Given the description of an element on the screen output the (x, y) to click on. 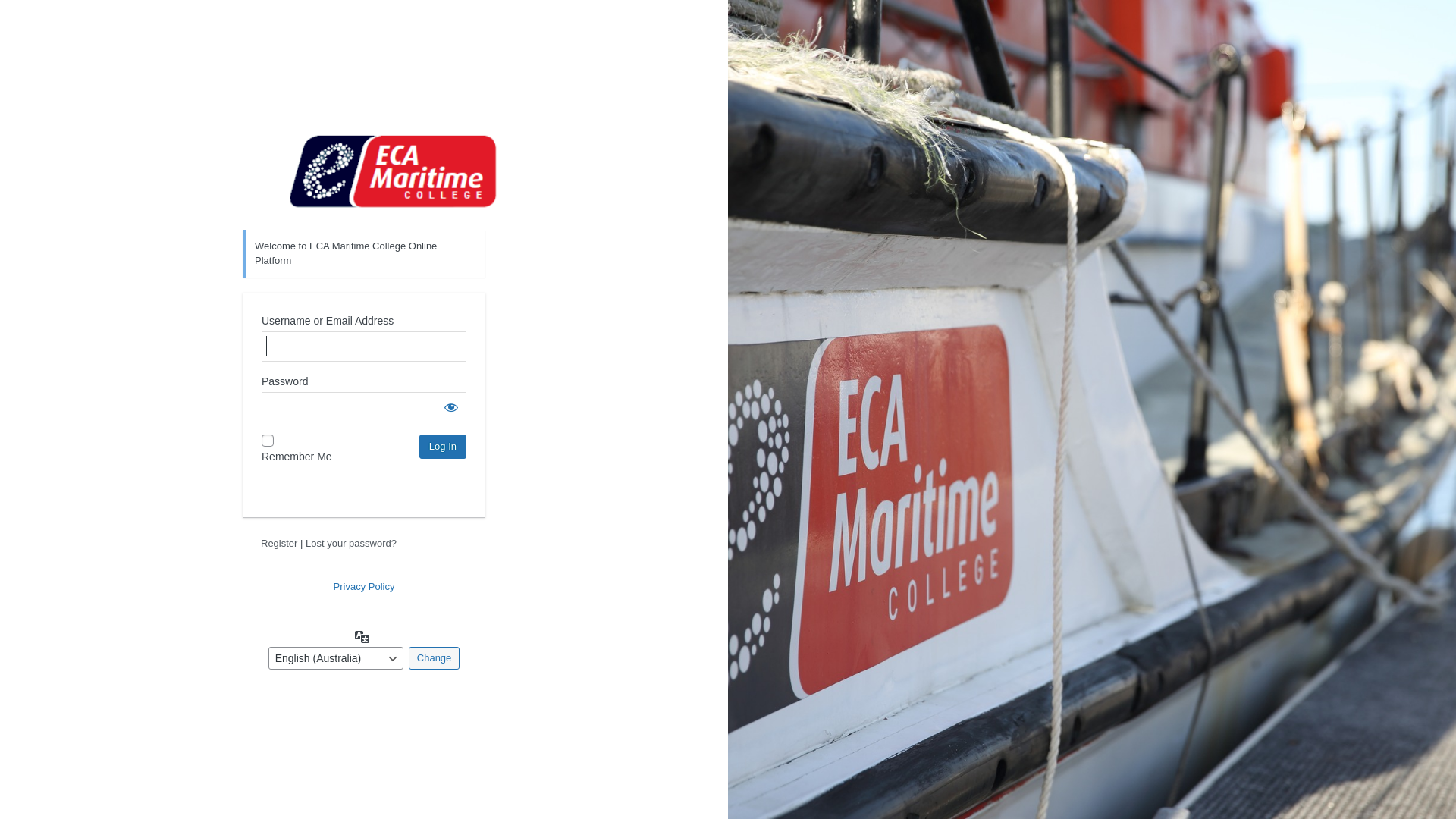
ECA Maritime College Element type: text (394, 170)
Privacy Policy Element type: text (364, 586)
Log In Element type: text (442, 446)
Lost your password? Element type: text (350, 543)
Change Element type: text (434, 657)
Register Element type: text (278, 543)
